Given the description of an element on the screen output the (x, y) to click on. 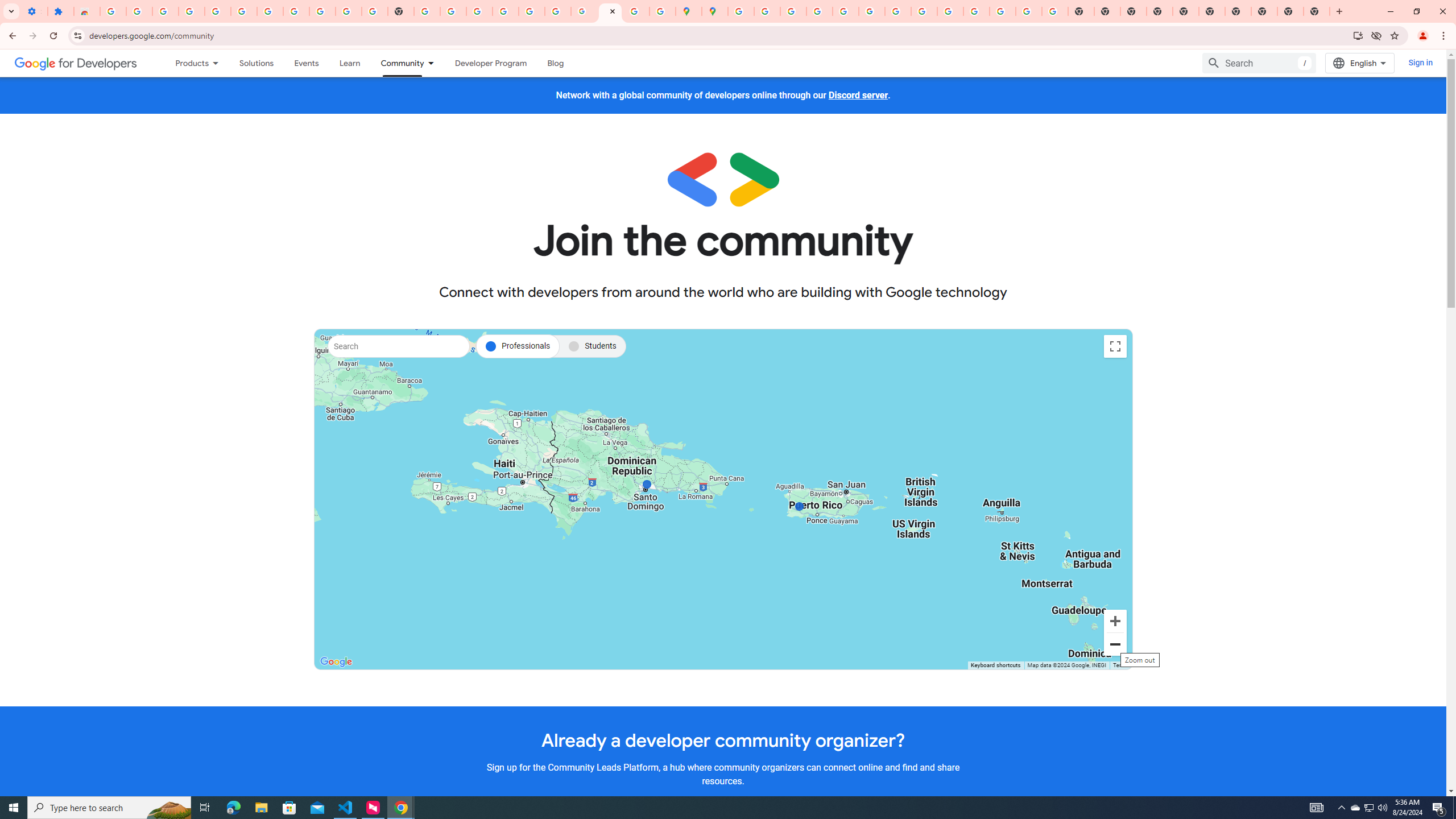
Toggle fullscreen view (1114, 345)
Solutions (255, 62)
Delete photos & videos - Computer - Google Photos Help (191, 11)
Install Google Developers (1358, 35)
Keyboard shortcuts (994, 665)
Safety in Our Products - Google Safety Center (663, 11)
Google for Developers (75, 63)
Privacy Help Center - Policies Help (818, 11)
Reload (52, 35)
YouTube (897, 11)
Google Account (322, 11)
